Given the description of an element on the screen output the (x, y) to click on. 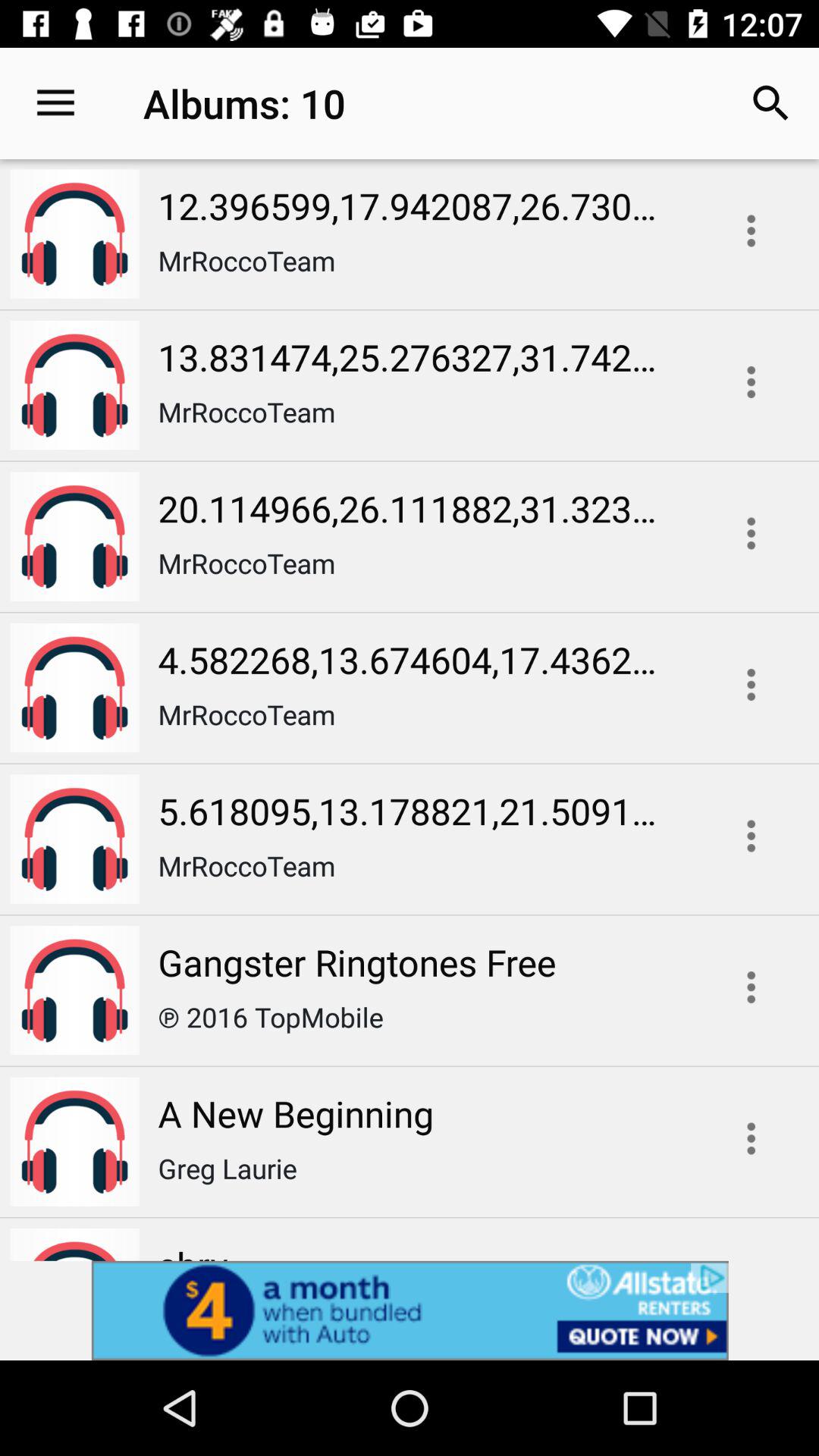
more details (750, 684)
